Given the description of an element on the screen output the (x, y) to click on. 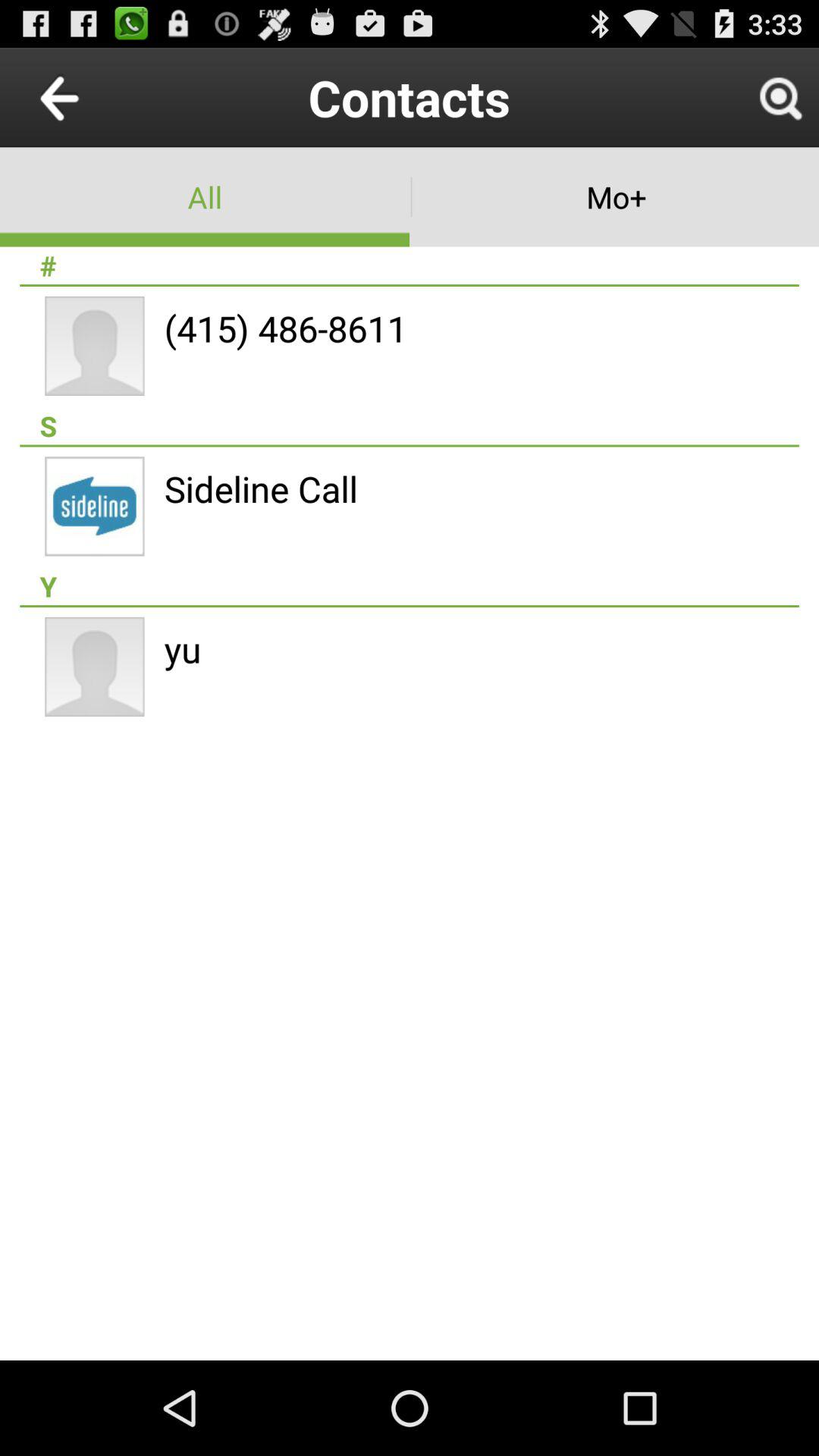
turn off the item above the s app (285, 328)
